Given the description of an element on the screen output the (x, y) to click on. 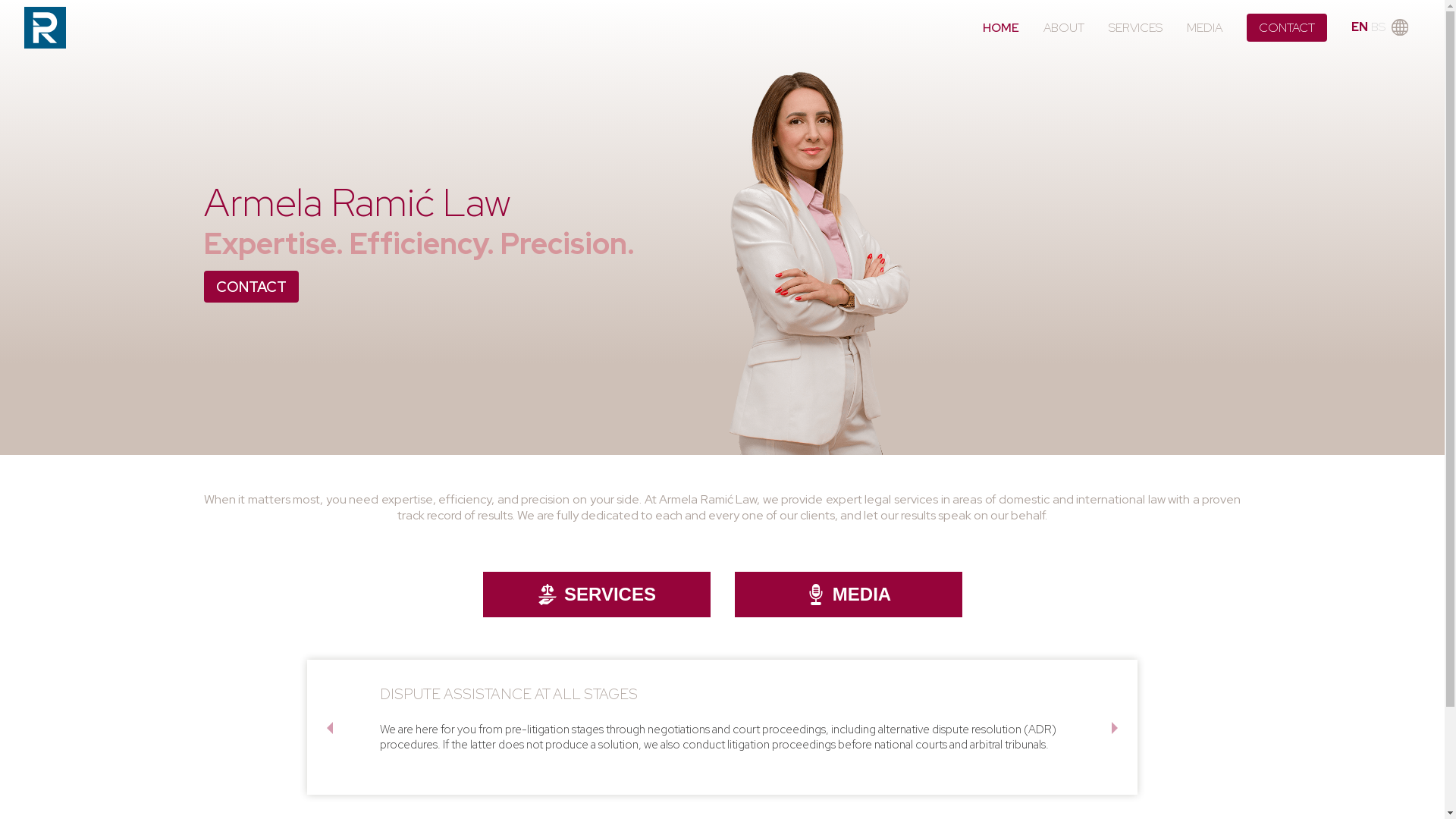
CONTACT Element type: text (250, 286)
COMPLEX FOREIGN DIRECT INVESTMENT PROJECTS Element type: text (564, 693)
MEDIA Element type: text (847, 594)
SERVICES Element type: text (595, 594)
